Given the description of an element on the screen output the (x, y) to click on. 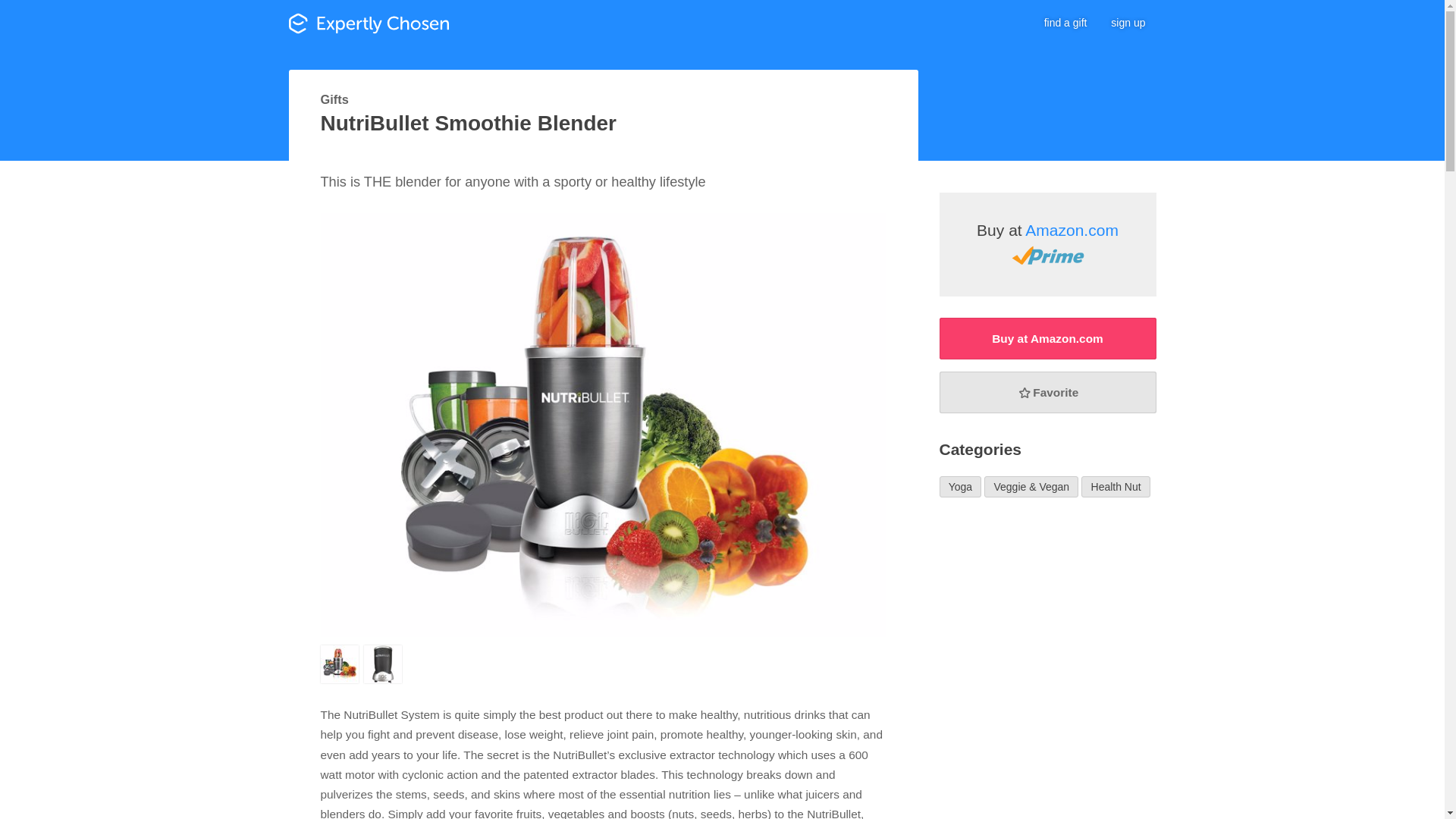
Find out more and buy at Amazon.com (1047, 338)
Buy at Amazon.com (1047, 244)
Gifts (333, 99)
Buy at Amazon.com (1047, 338)
sign up (1128, 23)
Health Nut (1115, 486)
Yoga (960, 486)
Shortlist gift (1047, 392)
find a gift (1065, 23)
Favorite (1047, 392)
